Given the description of an element on the screen output the (x, y) to click on. 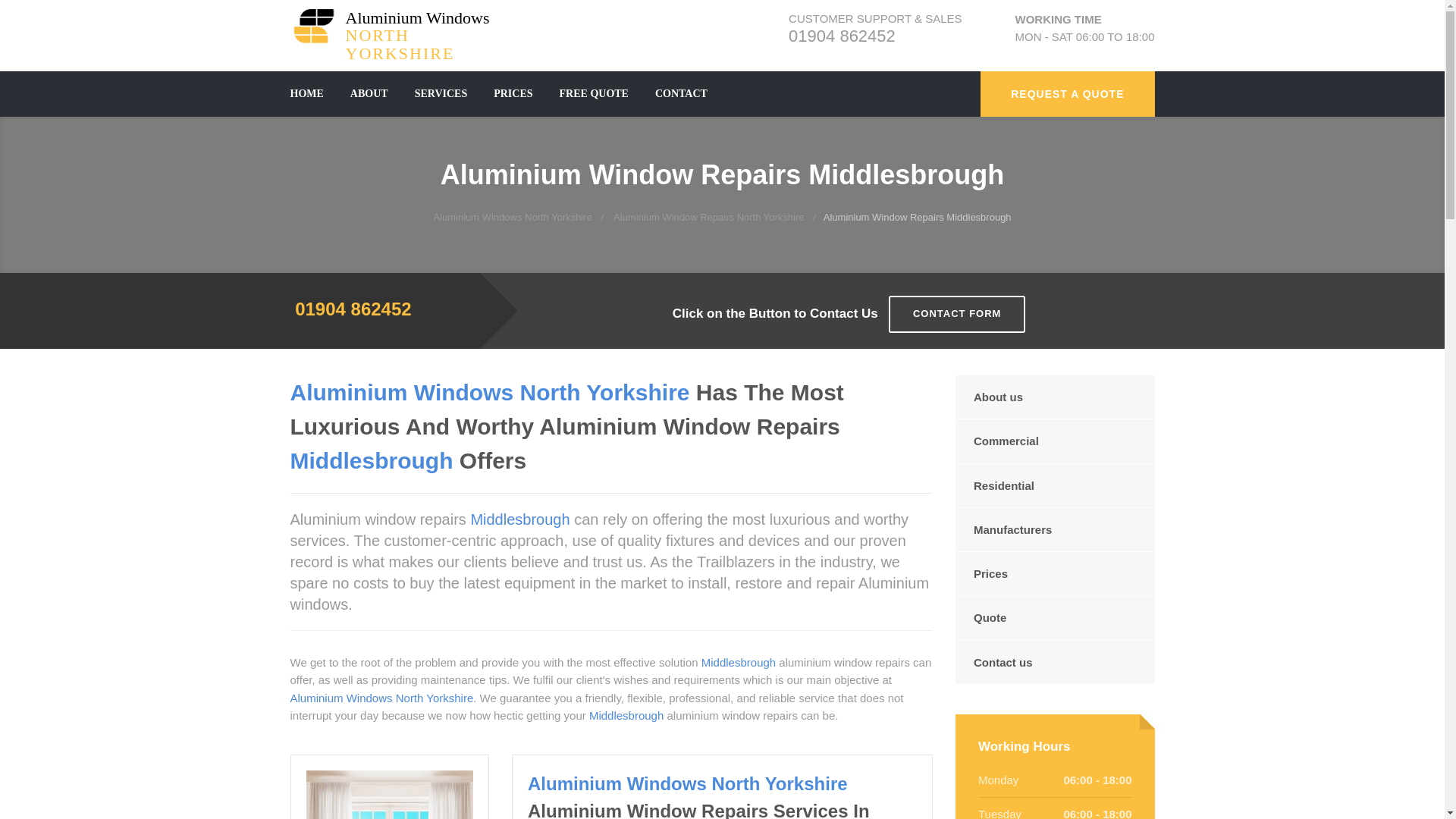
FREE QUOTE (593, 94)
01904 862452 (353, 308)
REQUEST A QUOTE (1066, 94)
SERVICES (440, 94)
Aluminium Windows North Yorkshire (395, 26)
01904 862452 (512, 216)
Aluminium Window Repairs North Yorkshire (842, 35)
Aluminium Windows North Yorkshire (707, 216)
CONTACT (395, 26)
